Given the description of an element on the screen output the (x, y) to click on. 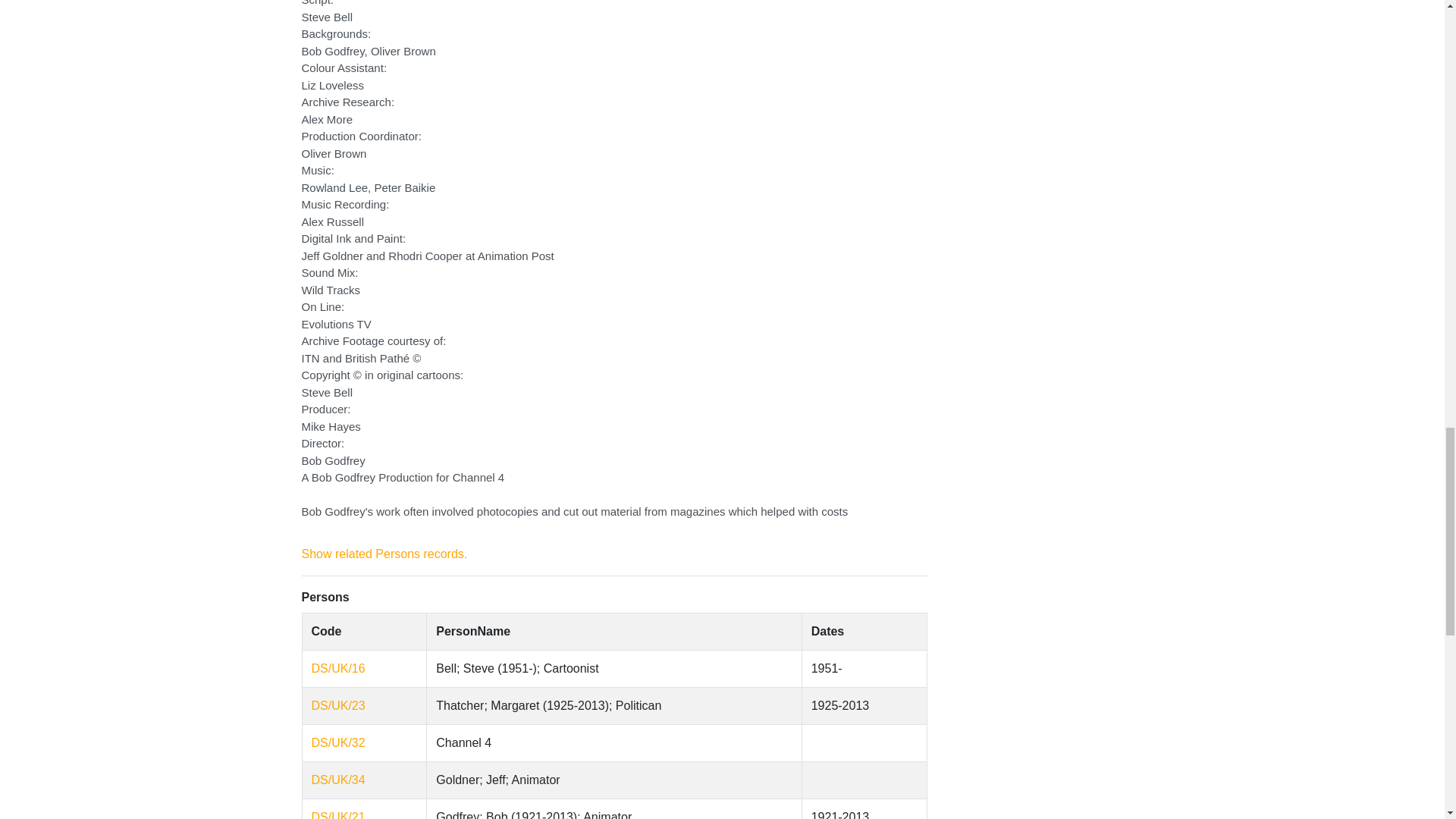
Show related Persons records. (338, 779)
Show related Persons records. (384, 553)
Show related Persons records. (338, 742)
Show related Persons records. (338, 667)
Show related Persons records. (384, 553)
Show related Persons records. (338, 705)
Show related Persons records. (338, 814)
